Given the description of an element on the screen output the (x, y) to click on. 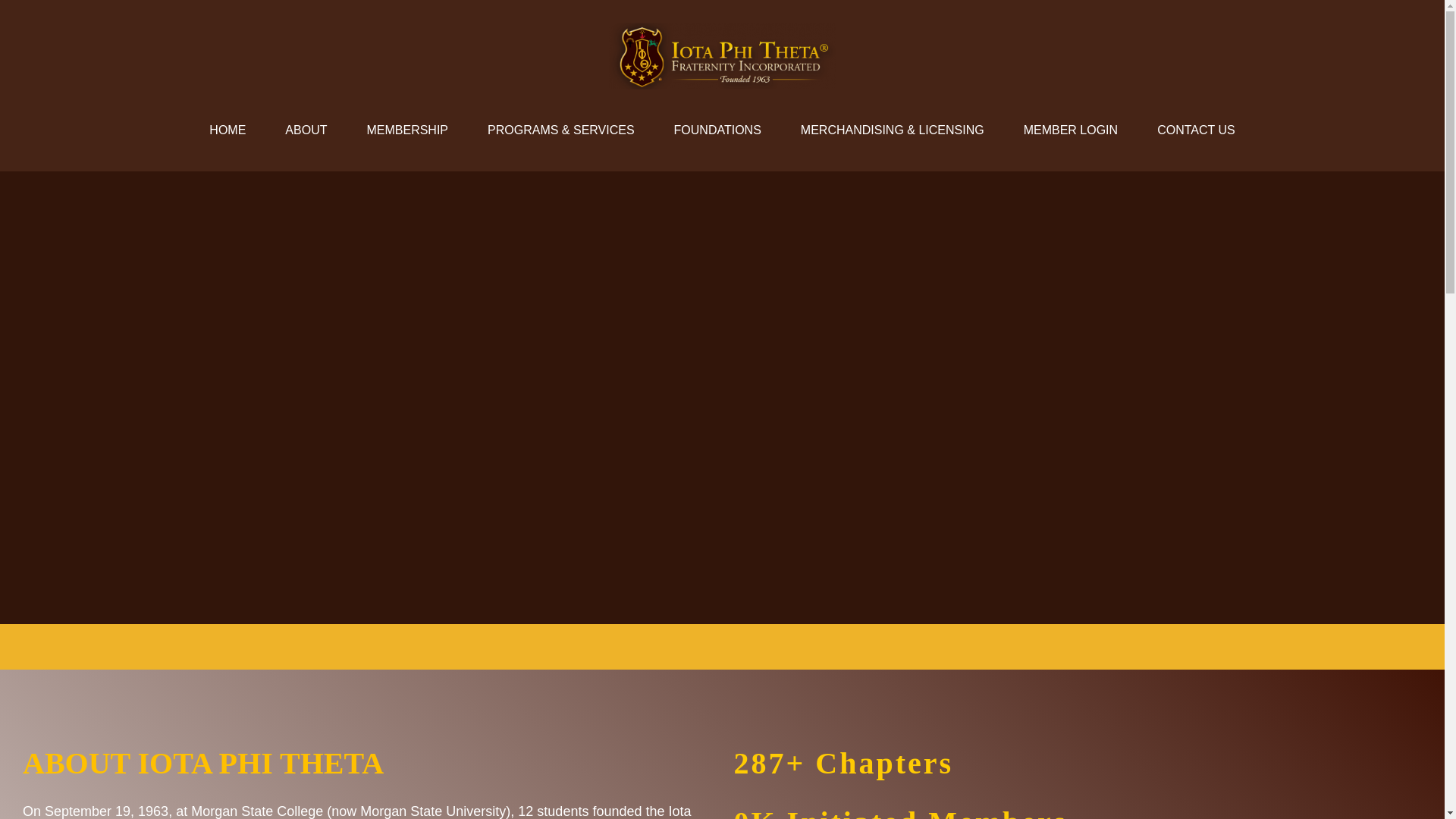
CONTACT US (1196, 130)
MEMBERSHIP (406, 130)
FOUNDATIONS (716, 130)
HOME (226, 130)
MEMBER LOGIN (1070, 130)
ABOUT (305, 130)
